Given the description of an element on the screen output the (x, y) to click on. 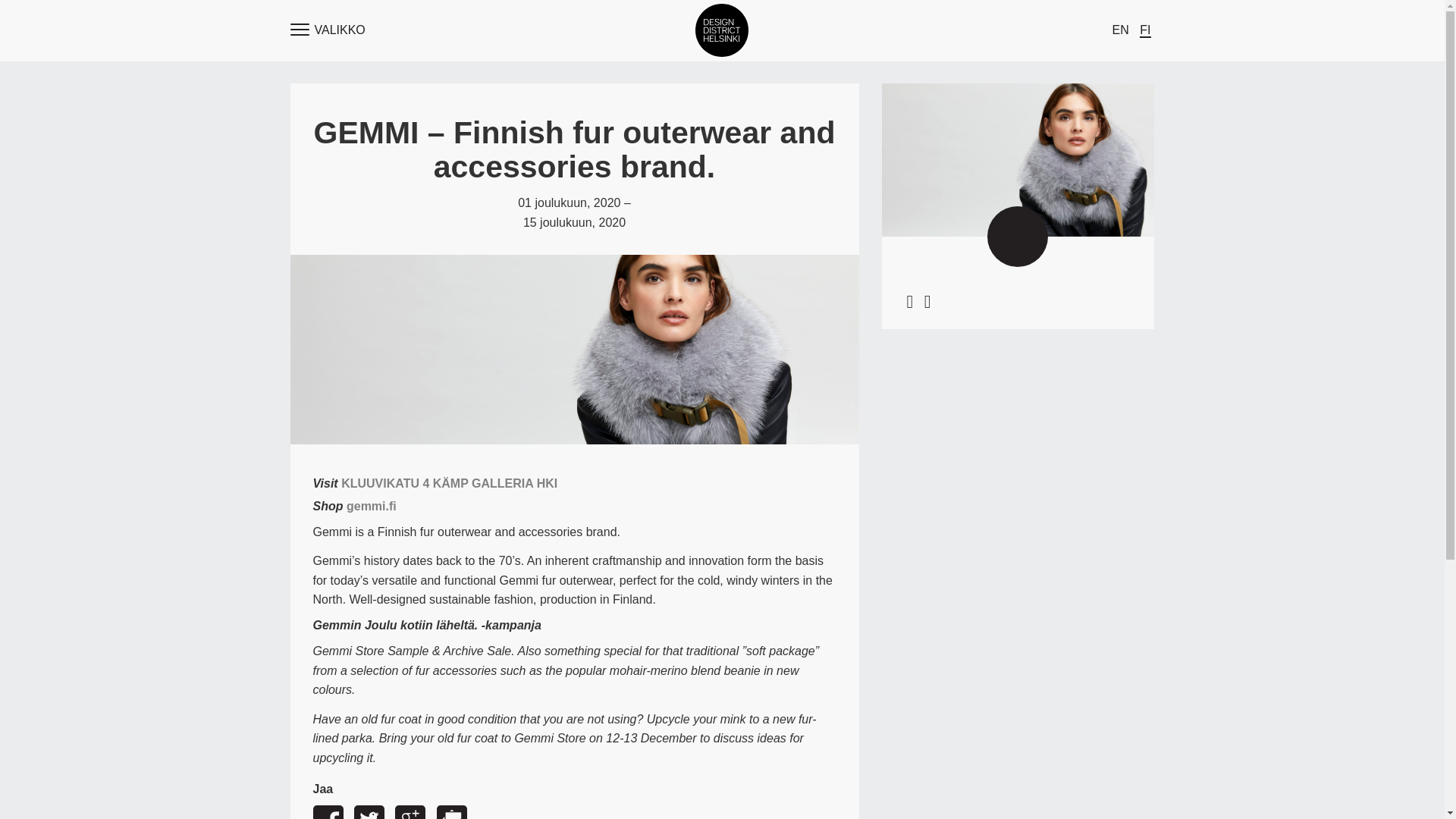
gemmi.fi (371, 505)
EN (1120, 29)
